Given the description of an element on the screen output the (x, y) to click on. 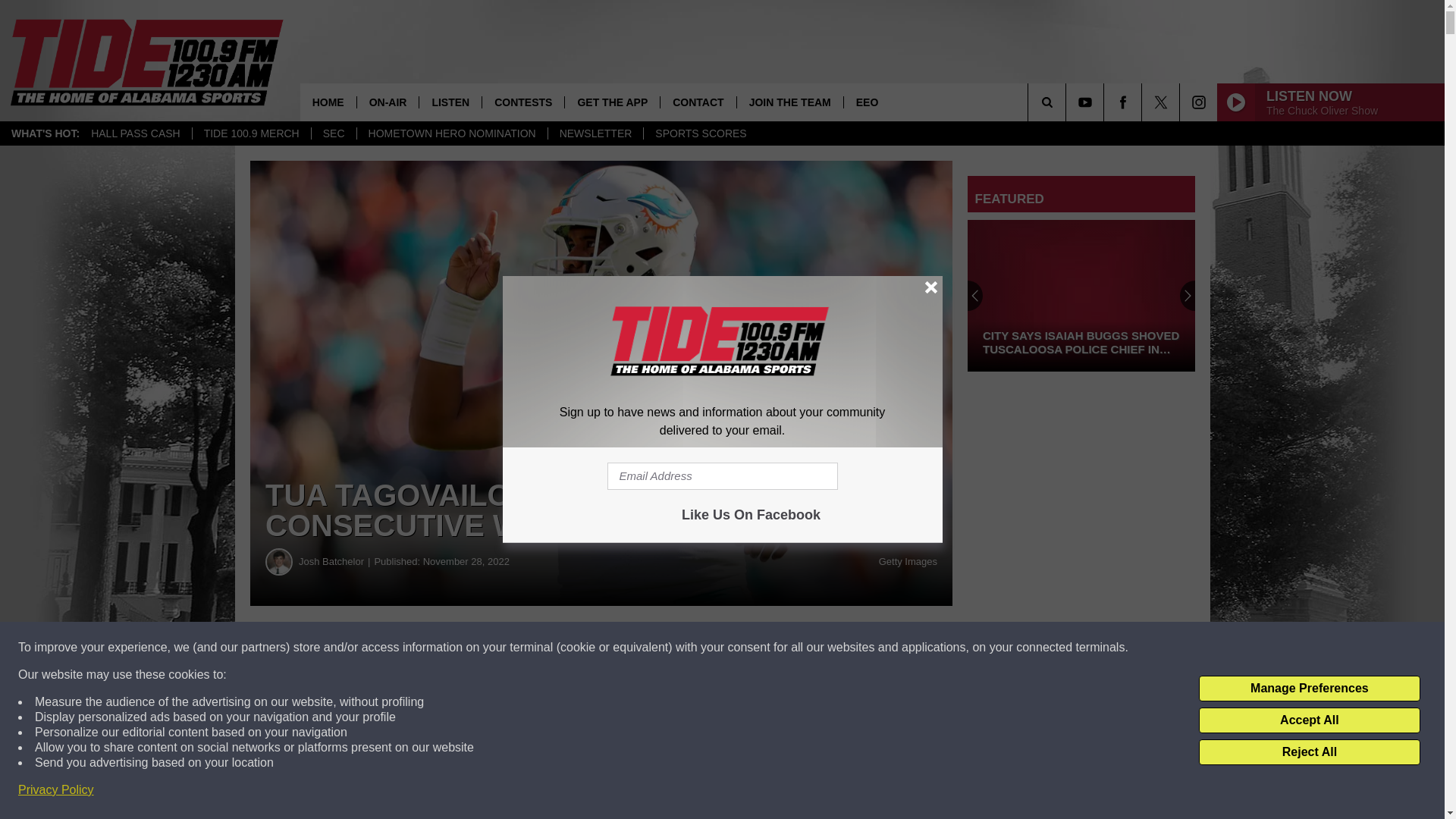
Privacy Policy (55, 789)
Email Address (722, 475)
Manage Preferences (1309, 688)
CONTESTS (522, 102)
HOME (327, 102)
GET THE APP (611, 102)
SEC (333, 133)
NEWSLETTER (595, 133)
HOMETOWN HERO NOMINATION (451, 133)
Share on Facebook (460, 647)
SEARCH (1068, 102)
HALL PASS CASH (136, 133)
TIDE 100.9 MERCH (251, 133)
SEARCH (1068, 102)
Accept All (1309, 720)
